Given the description of an element on the screen output the (x, y) to click on. 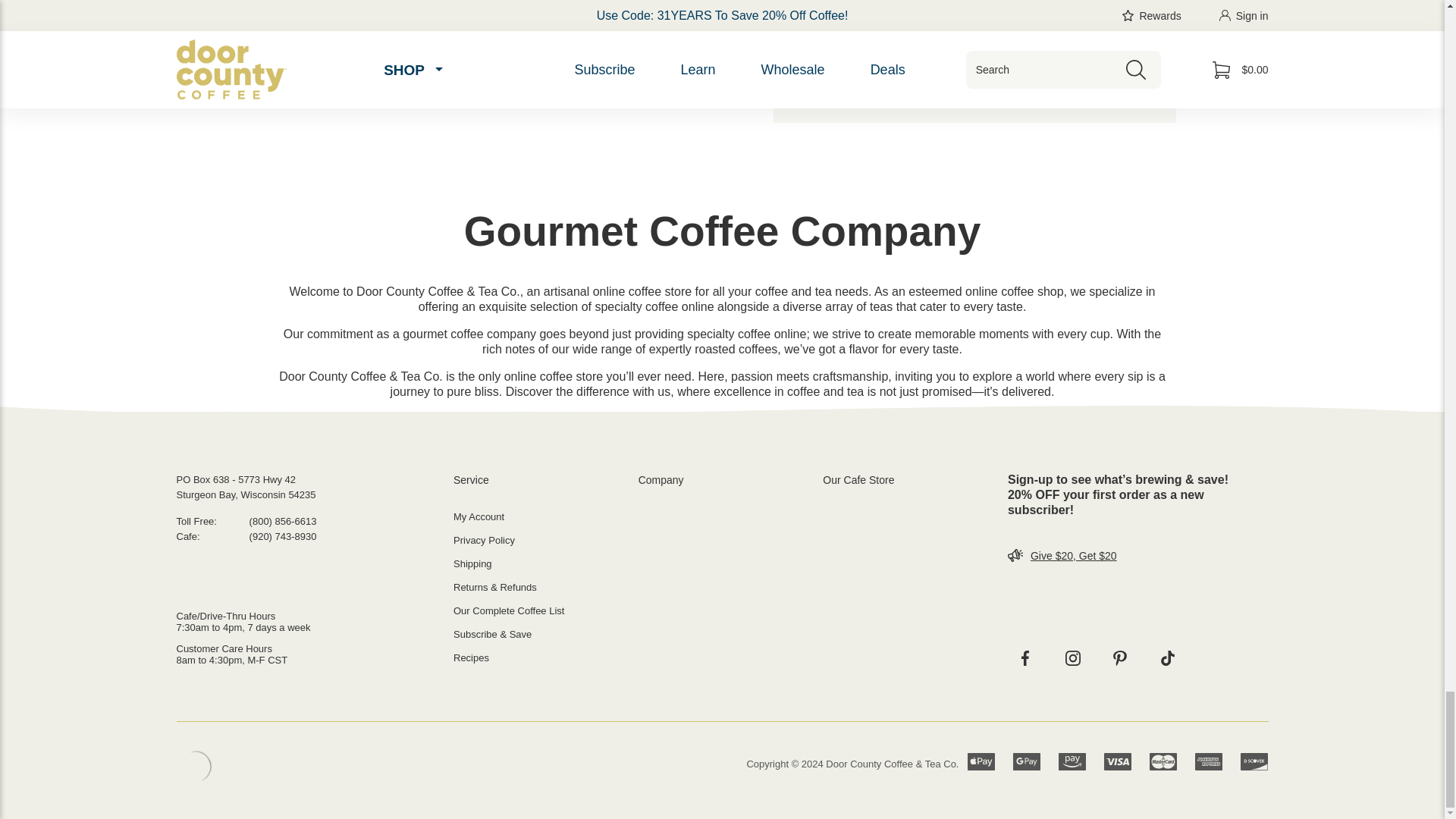
View our instagram. Opens in a new window. (1072, 657)
View our pinterest. Opens in a new window. (1119, 657)
View our youtube. Opens in a new window. (1167, 657)
View our facebook. Opens in a new window. (1024, 657)
